Given the description of an element on the screen output the (x, y) to click on. 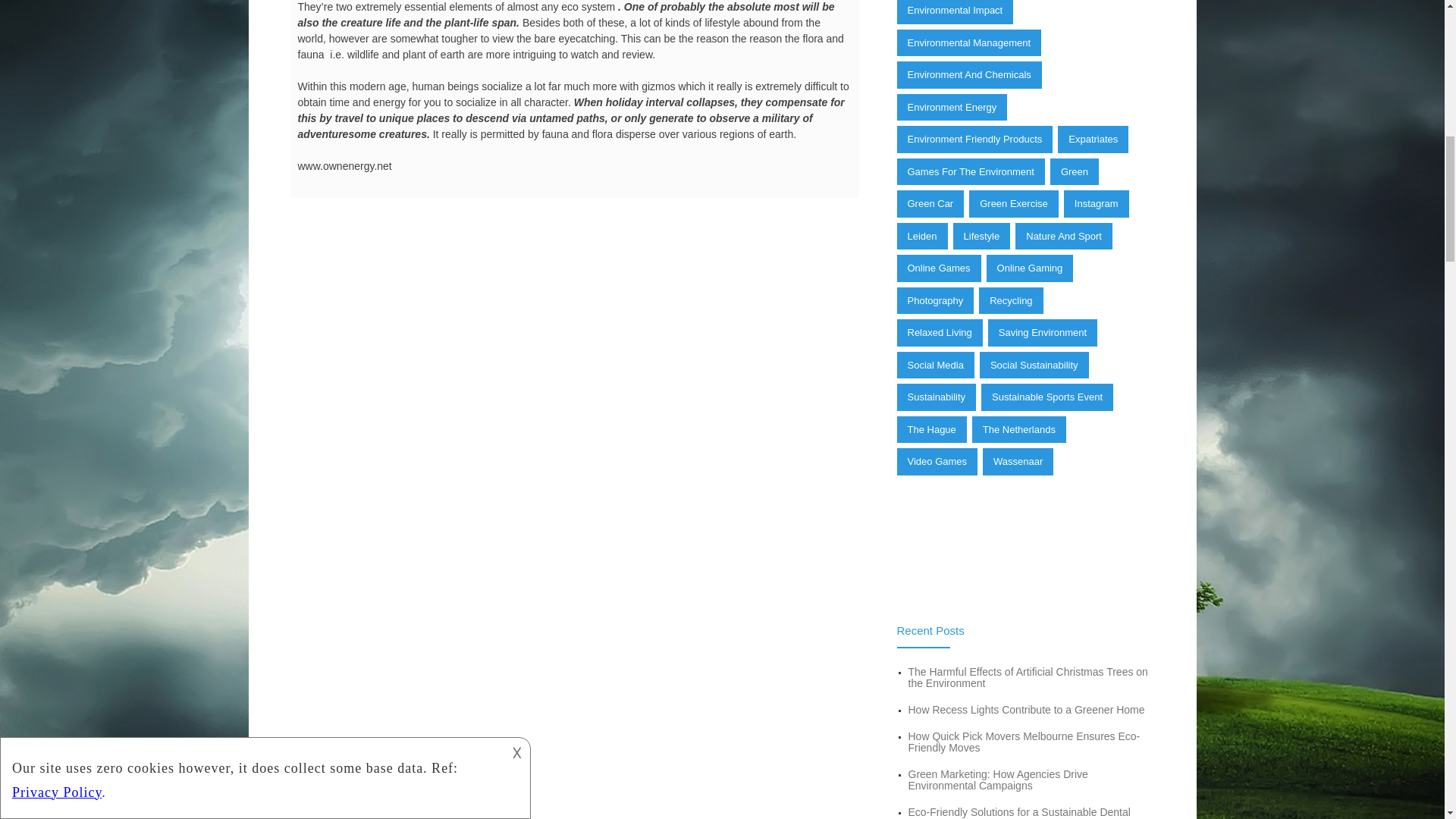
Expatriates (1093, 139)
Environment Friendly Products (974, 139)
Environment And Chemicals (968, 74)
Green (1074, 171)
Environment Energy (951, 107)
Environmental Impact (954, 12)
Games For The Environment (969, 171)
Environmental Management (968, 42)
